Given the description of an element on the screen output the (x, y) to click on. 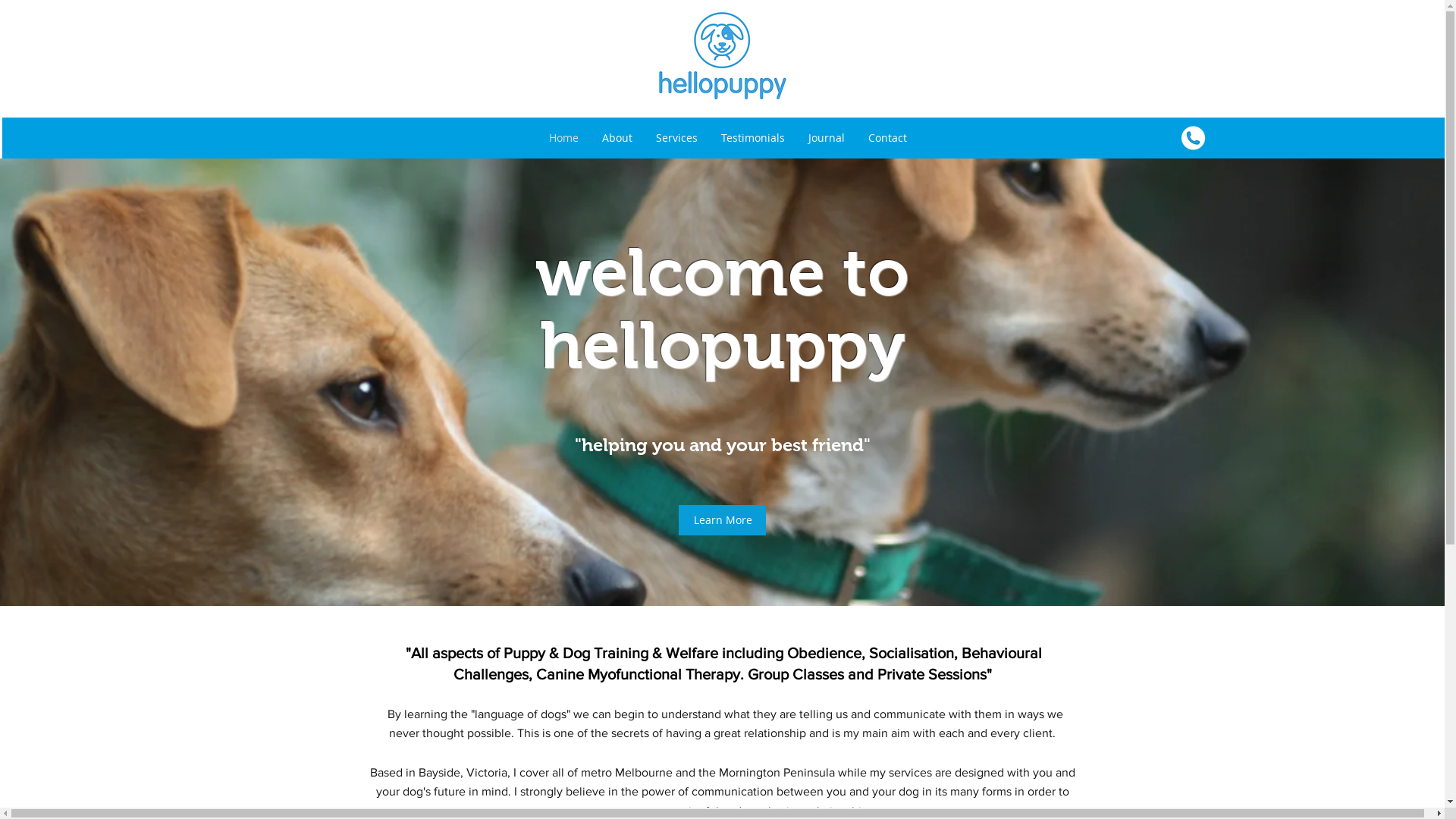
Contact Element type: text (887, 137)
Learn More Element type: text (721, 520)
Testimonials Element type: text (752, 137)
Journal Element type: text (826, 137)
About Element type: text (616, 137)
Services Element type: text (676, 137)
Home Element type: text (562, 137)
